Given the description of an element on the screen output the (x, y) to click on. 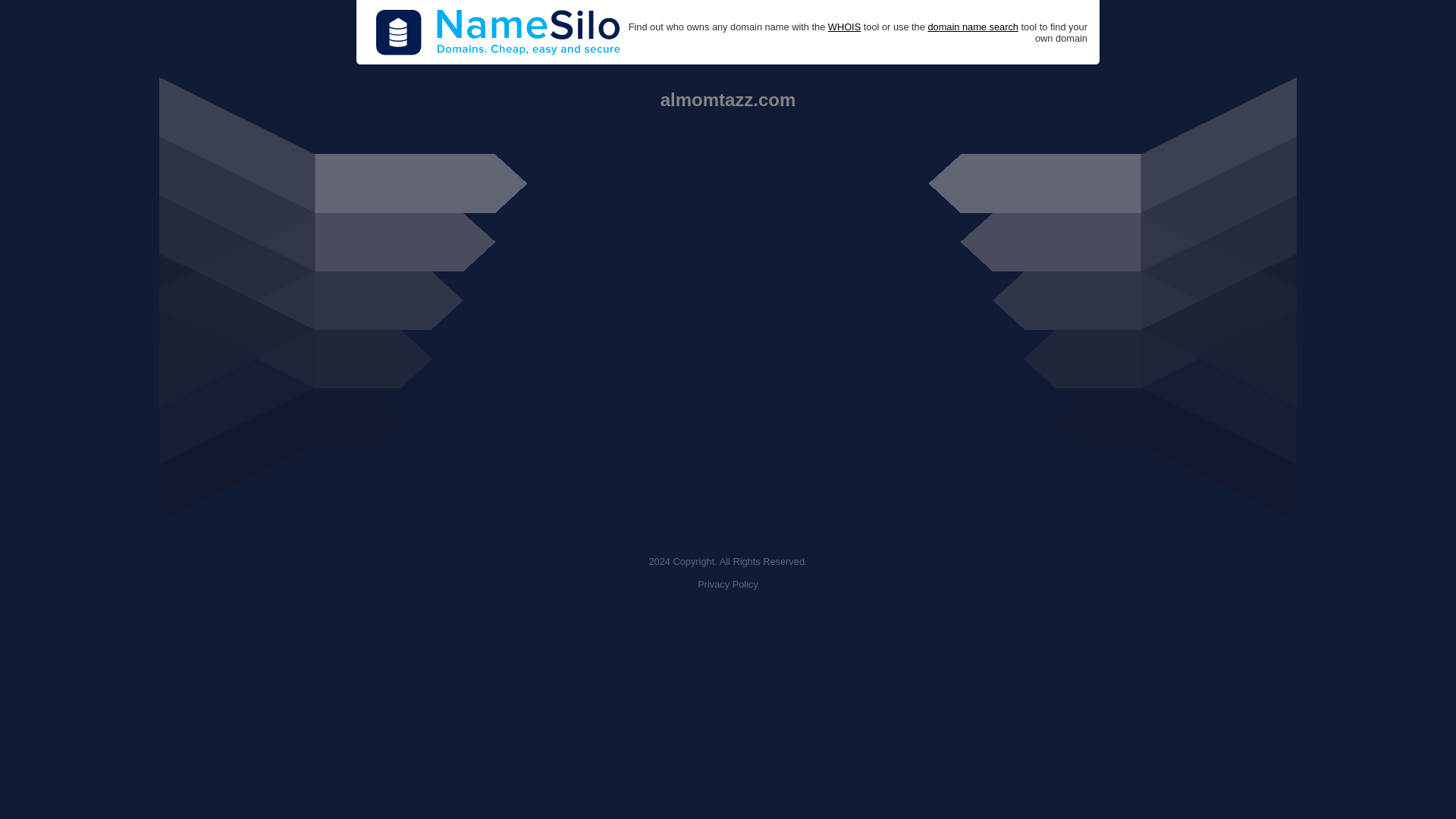
WHOIS (844, 26)
Privacy Policy (727, 583)
domain name search (972, 26)
